Given the description of an element on the screen output the (x, y) to click on. 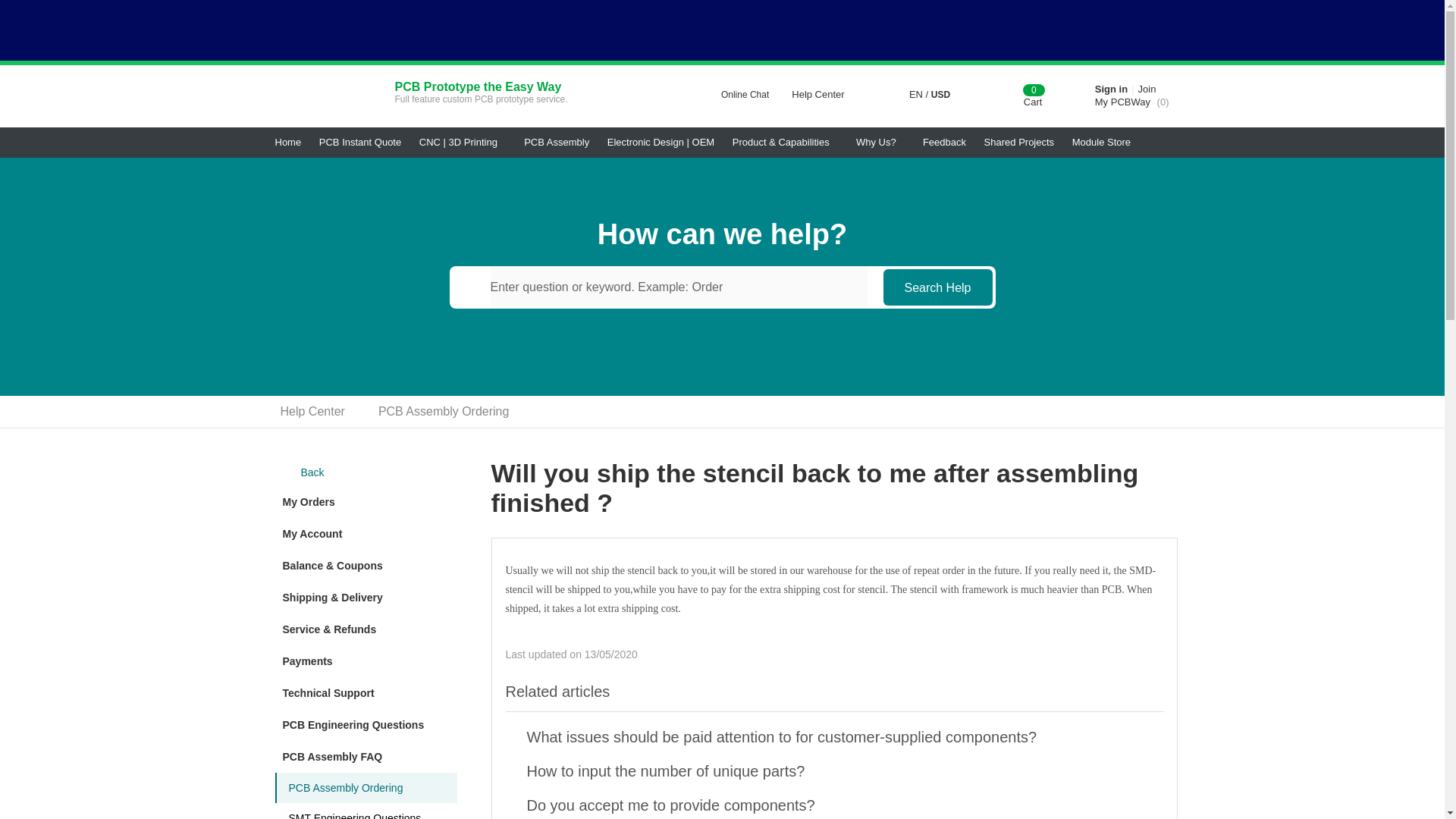
Help Center (822, 94)
My PCBWay (1122, 101)
Closed (1420, 13)
Online Chat (735, 94)
Custom PCB Prototype Manufacturer (320, 95)
Join (1147, 89)
Feedback (944, 142)
Sign in (1110, 89)
Why Us? (880, 142)
PCB Assembly (556, 142)
